Given the description of an element on the screen output the (x, y) to click on. 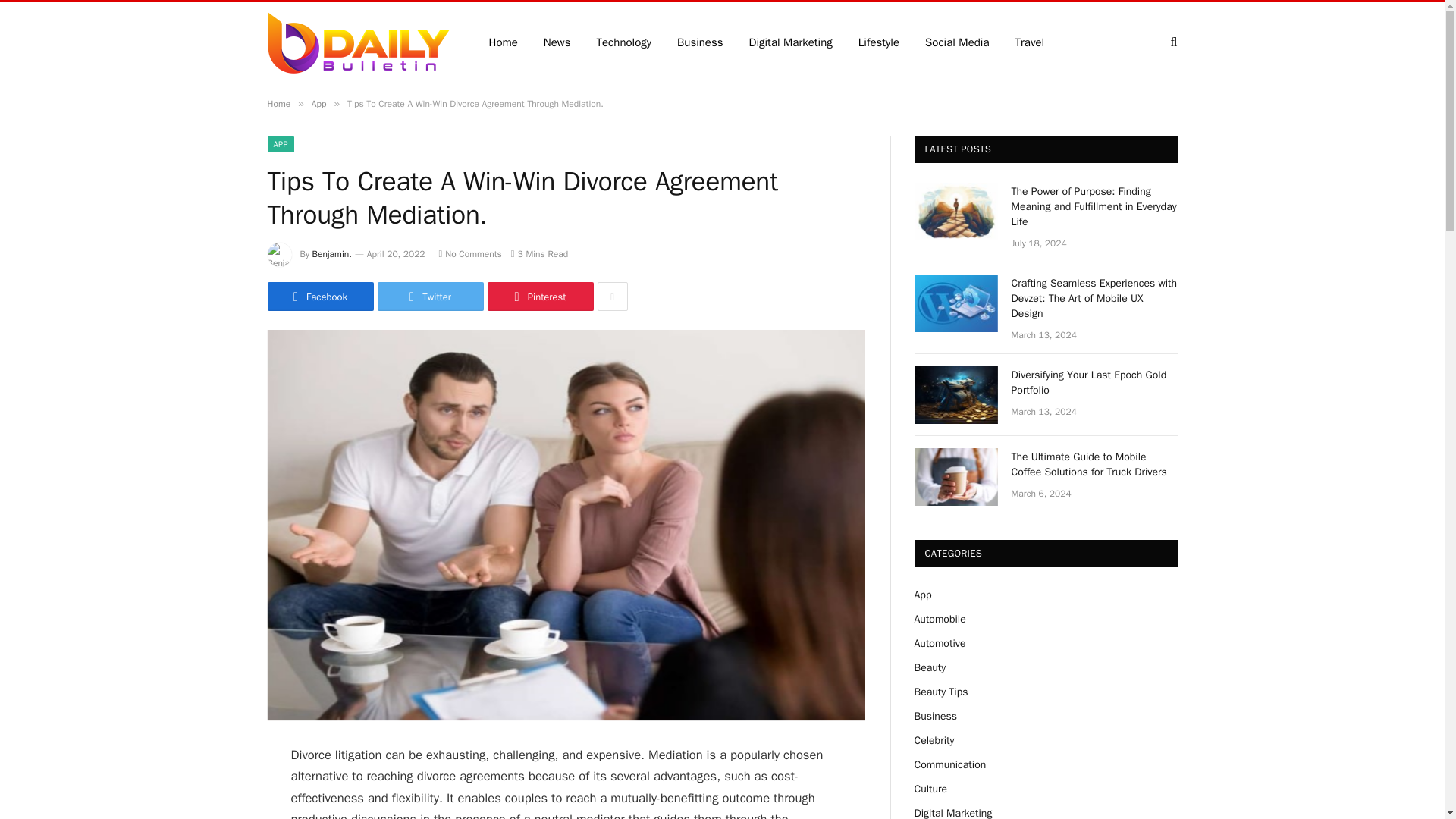
Show More Social Sharing (611, 296)
Social Media (956, 42)
APP (280, 143)
Daily Bulletin (357, 42)
Twitter (430, 296)
Pinterest (539, 296)
Facebook (319, 296)
App (318, 103)
No Comments (470, 254)
